Given the description of an element on the screen output the (x, y) to click on. 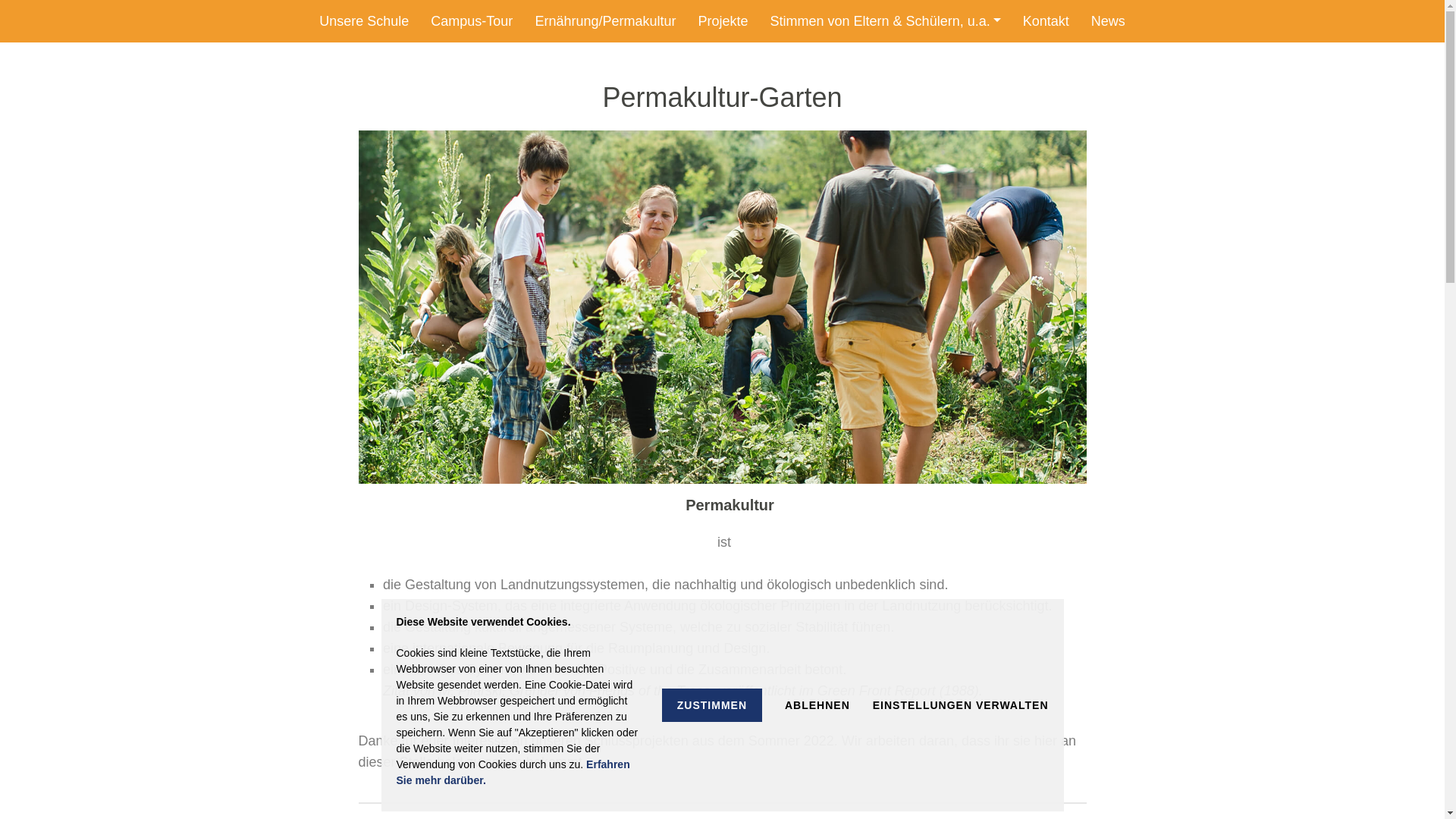
Kontakt Element type: text (1045, 20)
ZUSTIMMEN Element type: text (712, 704)
Campus-Tour Element type: text (471, 20)
ABLEHNEN Element type: text (817, 704)
Unsere Schule Element type: text (363, 20)
News Element type: text (1108, 20)
Projekte Element type: text (722, 20)
EINSTELLUNGEN VERWALTEN Element type: text (960, 704)
